Given the description of an element on the screen output the (x, y) to click on. 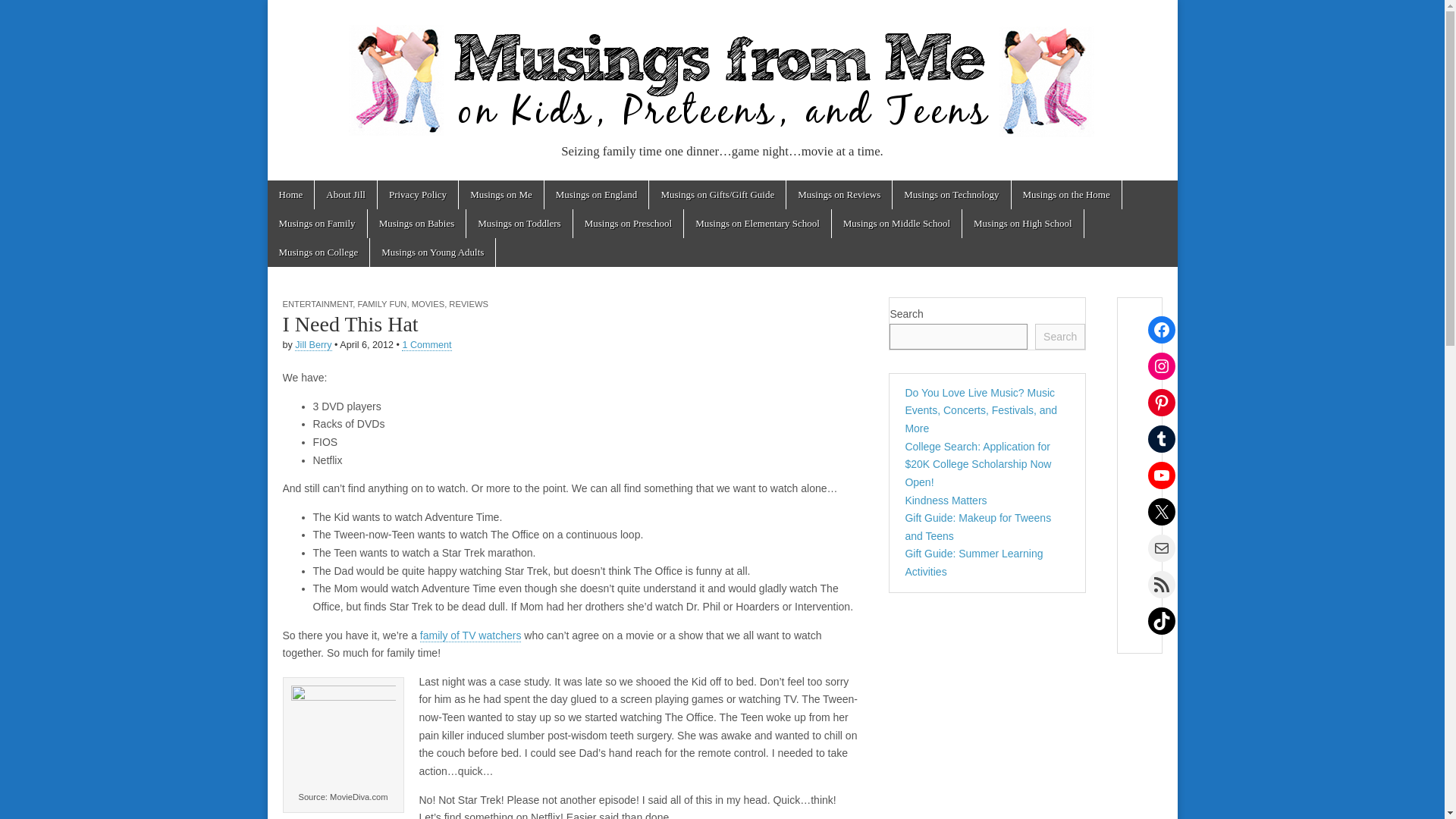
Musings on Middle School (895, 223)
1 Comment (426, 345)
Musings on High School (1022, 223)
Musings on College (317, 252)
Musings on Toddlers (518, 223)
Privacy Policy (417, 194)
Musings on Preschool (628, 223)
Musings on Elementary School (757, 223)
